Given the description of an element on the screen output the (x, y) to click on. 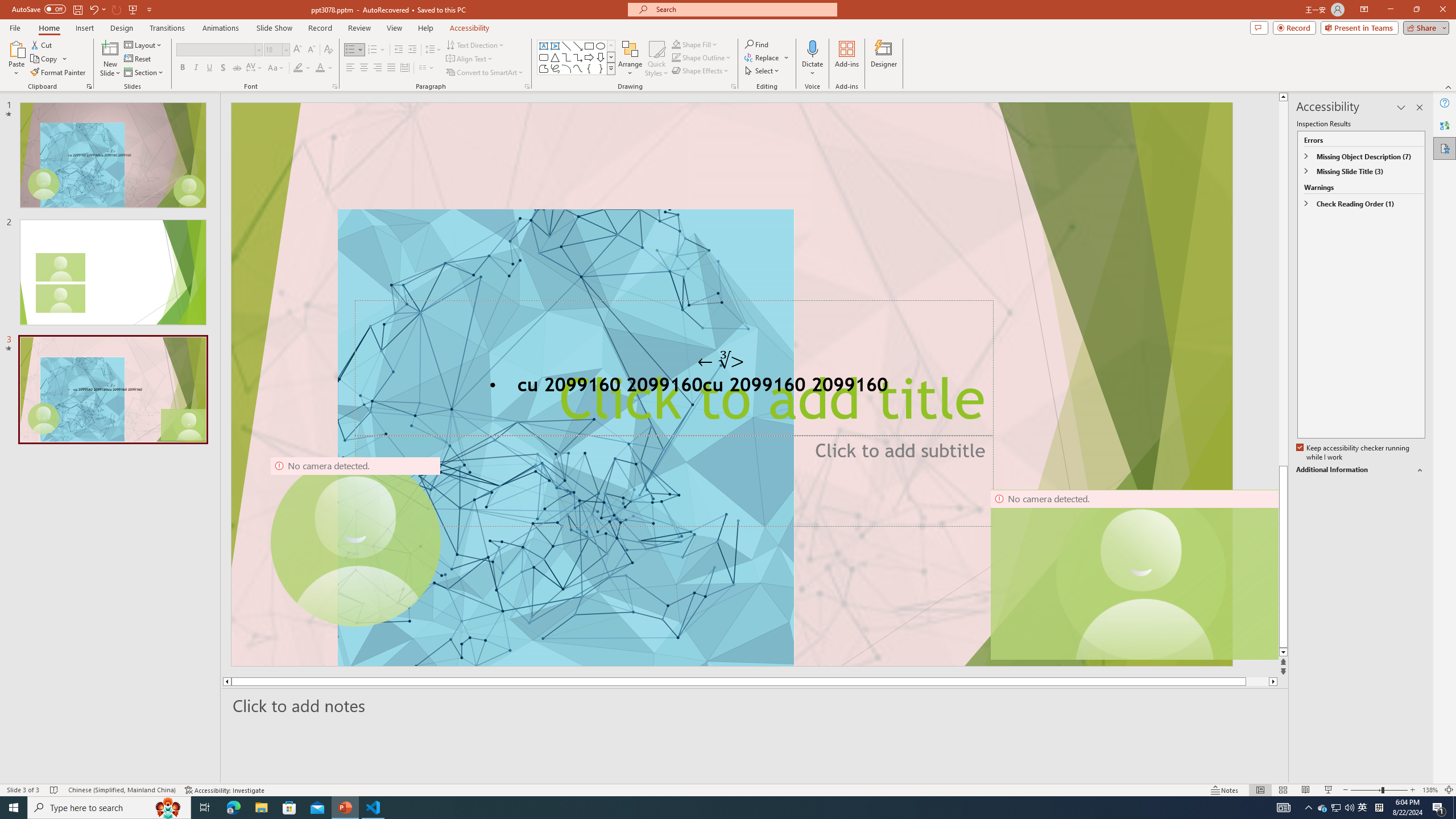
Shape Effects (700, 69)
Shape Fill Dark Green, Accent 2 (675, 44)
